Given the description of an element on the screen output the (x, y) to click on. 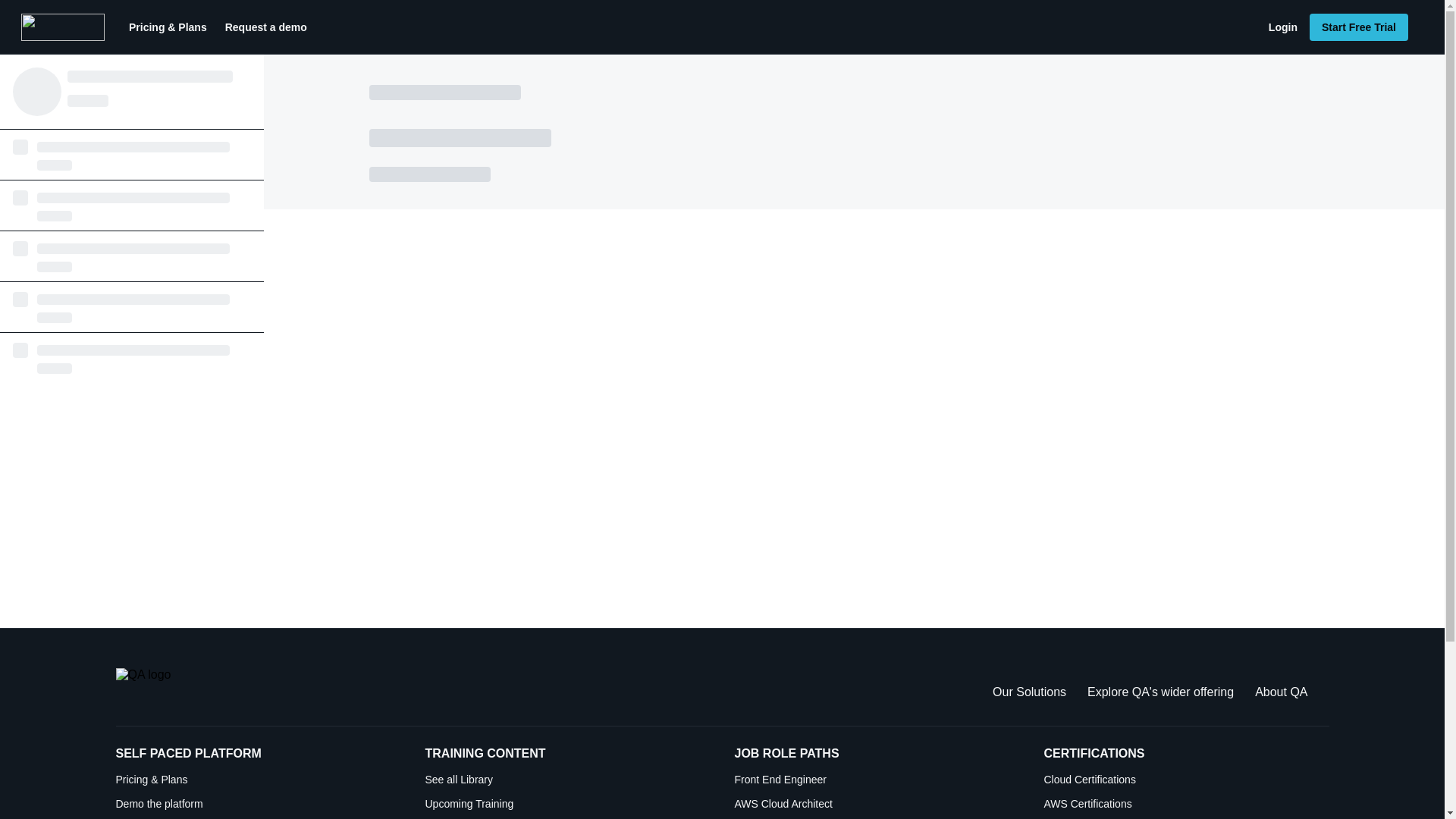
Explore QA's wider offering (1160, 692)
Cloud Certifications (1185, 779)
AWS Cloud Architect (876, 803)
Request a demo (266, 26)
See all Library (567, 779)
Upcoming Training (567, 803)
AWS Certifications (1185, 803)
Demo the platform (257, 803)
Front End Engineer (876, 779)
Login (1282, 26)
Start Free Trial (1357, 26)
Our Solutions (1028, 692)
